Given the description of an element on the screen output the (x, y) to click on. 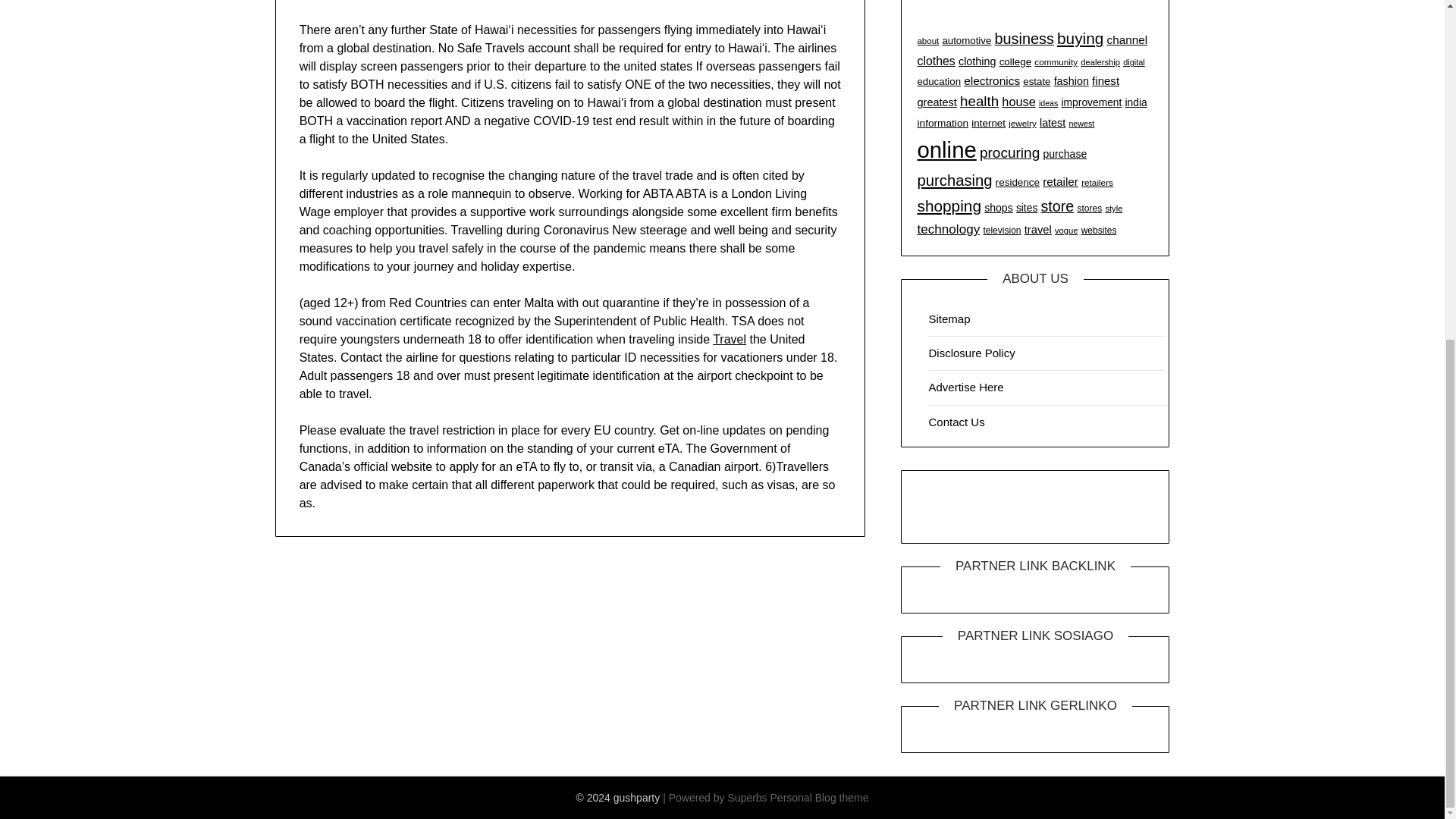
digital (1133, 61)
ideas (1048, 102)
greatest (936, 102)
dealership (1099, 61)
community (1055, 61)
improvement (1091, 102)
finest (1105, 80)
buying (1080, 37)
about (928, 40)
clothes (936, 60)
